Given the description of an element on the screen output the (x, y) to click on. 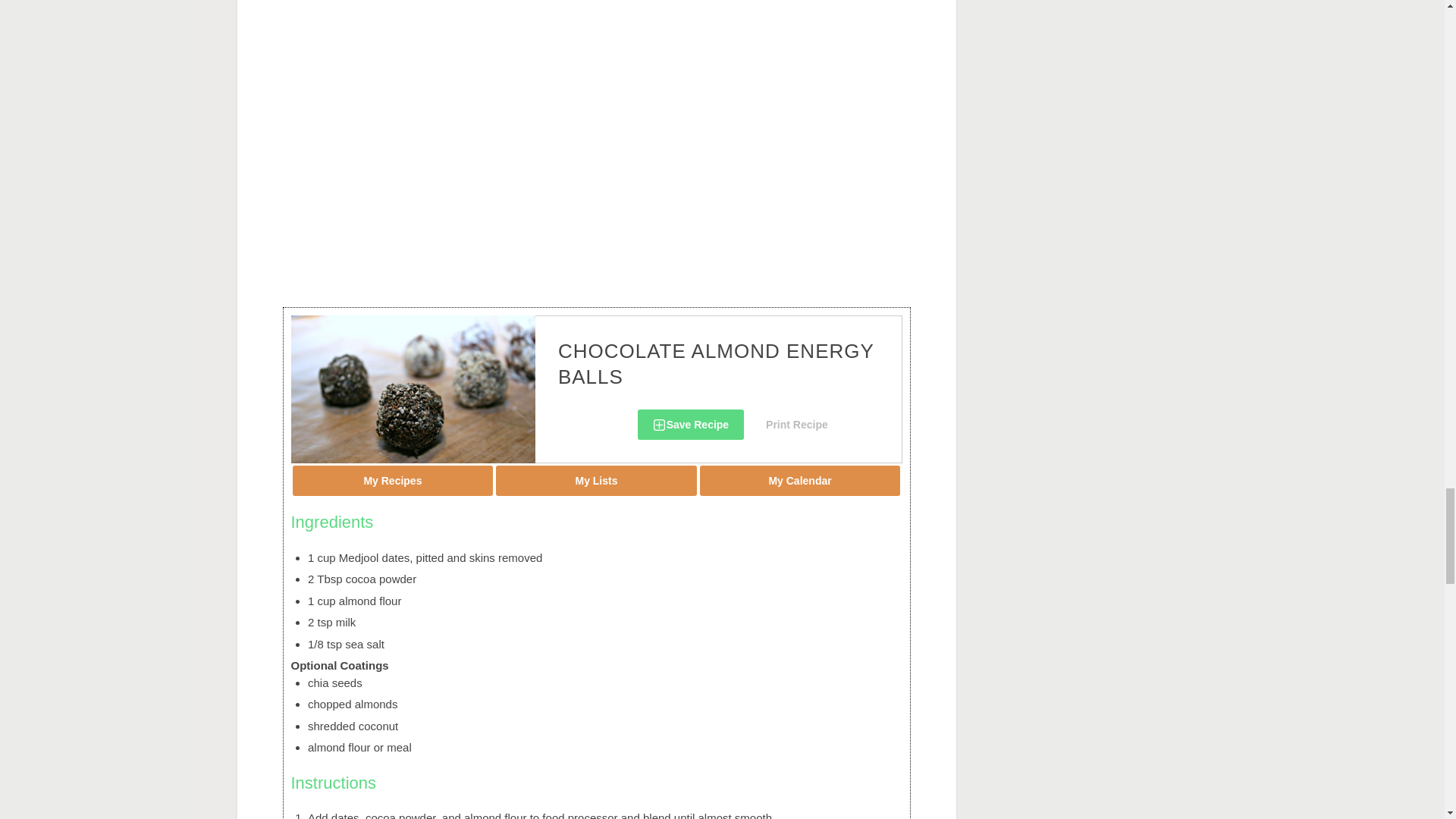
My Recipes (392, 481)
Print this recipe (797, 424)
My Calendar (799, 481)
Save Recipe to Mealplannerpro.com (690, 424)
My Lists (595, 481)
